Given the description of an element on the screen output the (x, y) to click on. 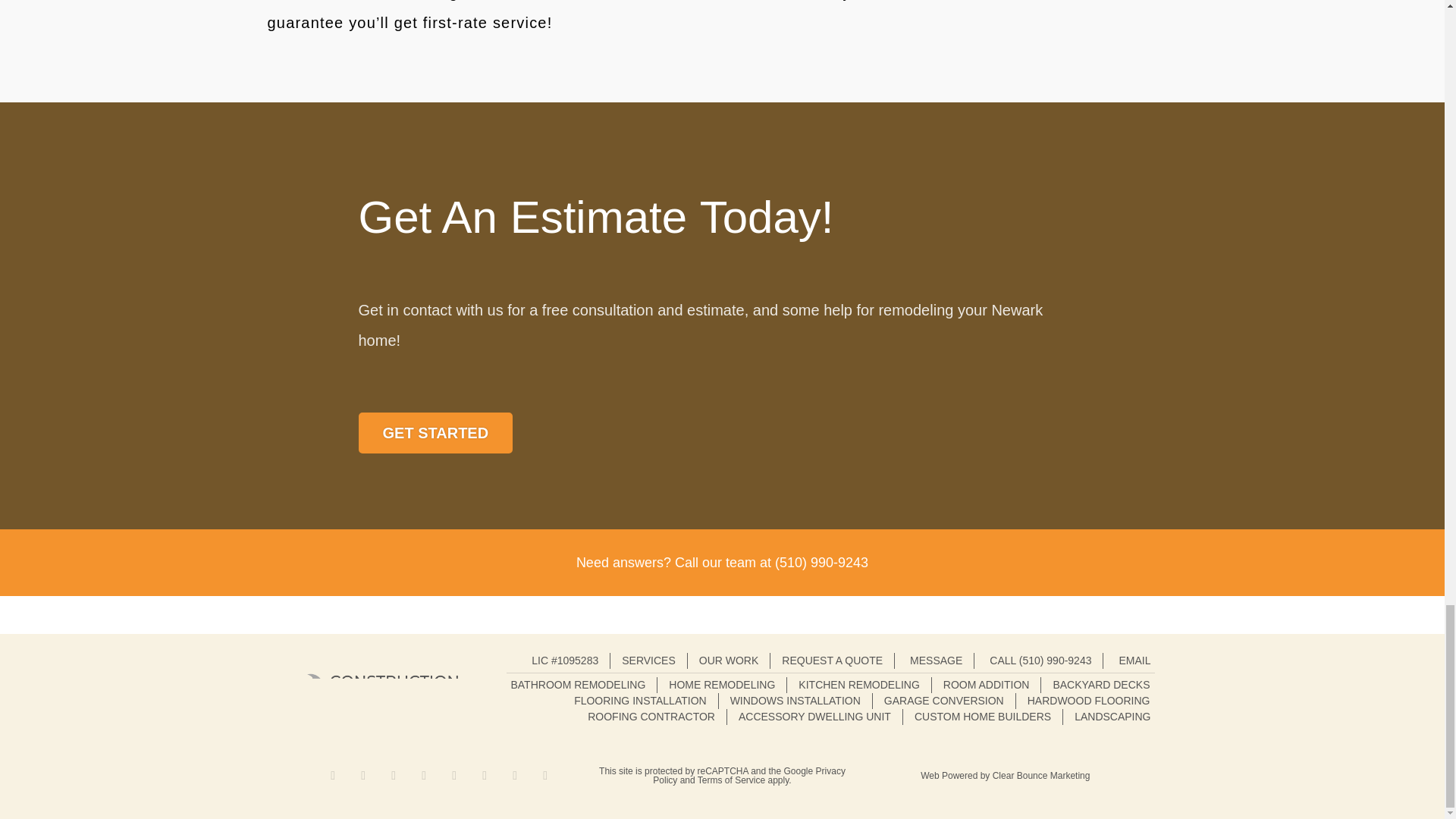
HOME REMODELING (721, 684)
ROOFING CONTRACTOR (651, 716)
LANDSCAPING (1112, 716)
CUSTOM HOME BUILDERS (982, 716)
HARDWOOD FLOORING (1088, 700)
SERVICES (648, 660)
OUR WORK (728, 660)
MESSAGE (933, 660)
GET STARTED (435, 432)
ACCESSORY DWELLING UNIT (814, 716)
BATHROOM REMODELING (578, 684)
FLOORING INSTALLATION (639, 700)
GARAGE CONVERSION (943, 700)
REQUEST A QUOTE (831, 660)
BACKYARD DECKS (1101, 684)
